Given the description of an element on the screen output the (x, y) to click on. 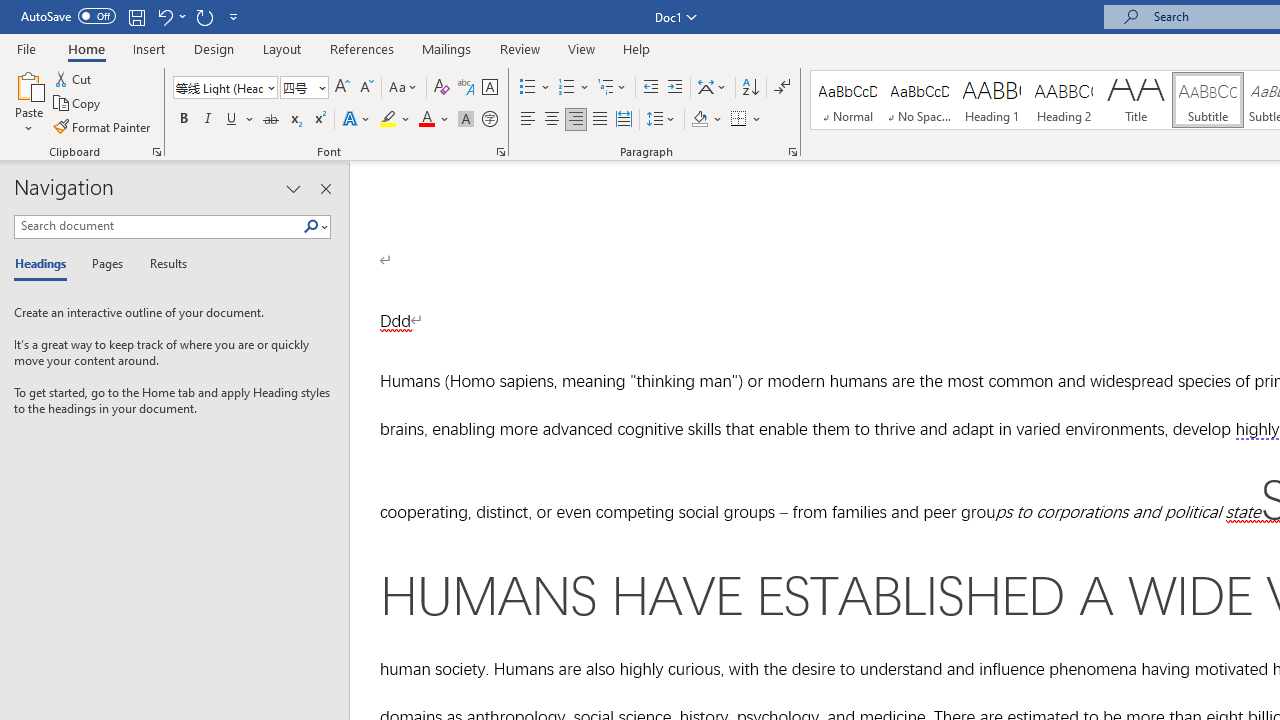
Character Shading (465, 119)
Title (1135, 100)
Decrease Indent (650, 87)
Undo Paragraph Alignment (164, 15)
Italic (207, 119)
